Given the description of an element on the screen output the (x, y) to click on. 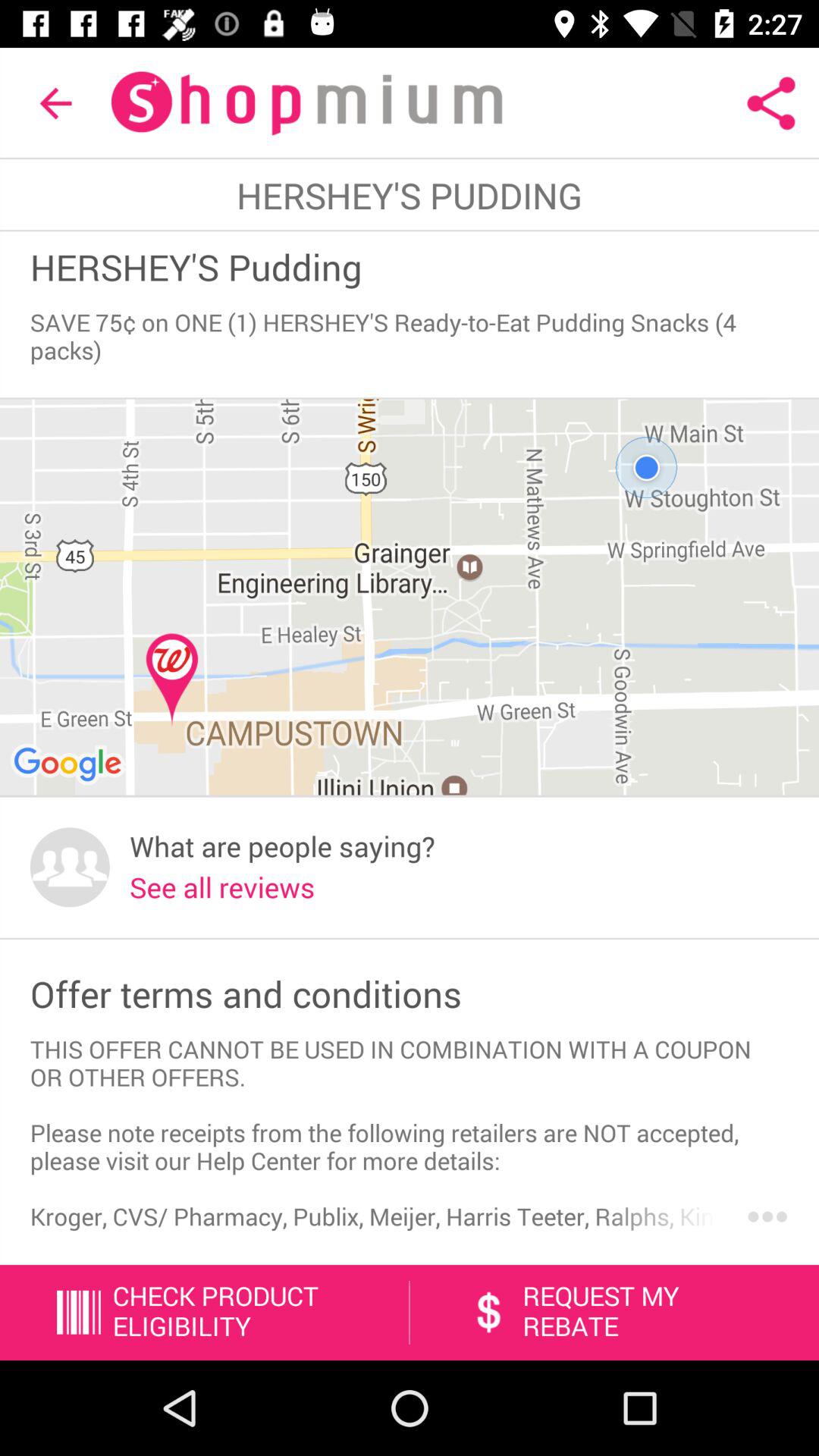
turn on icon below save 75 on (409, 598)
